Given the description of an element on the screen output the (x, y) to click on. 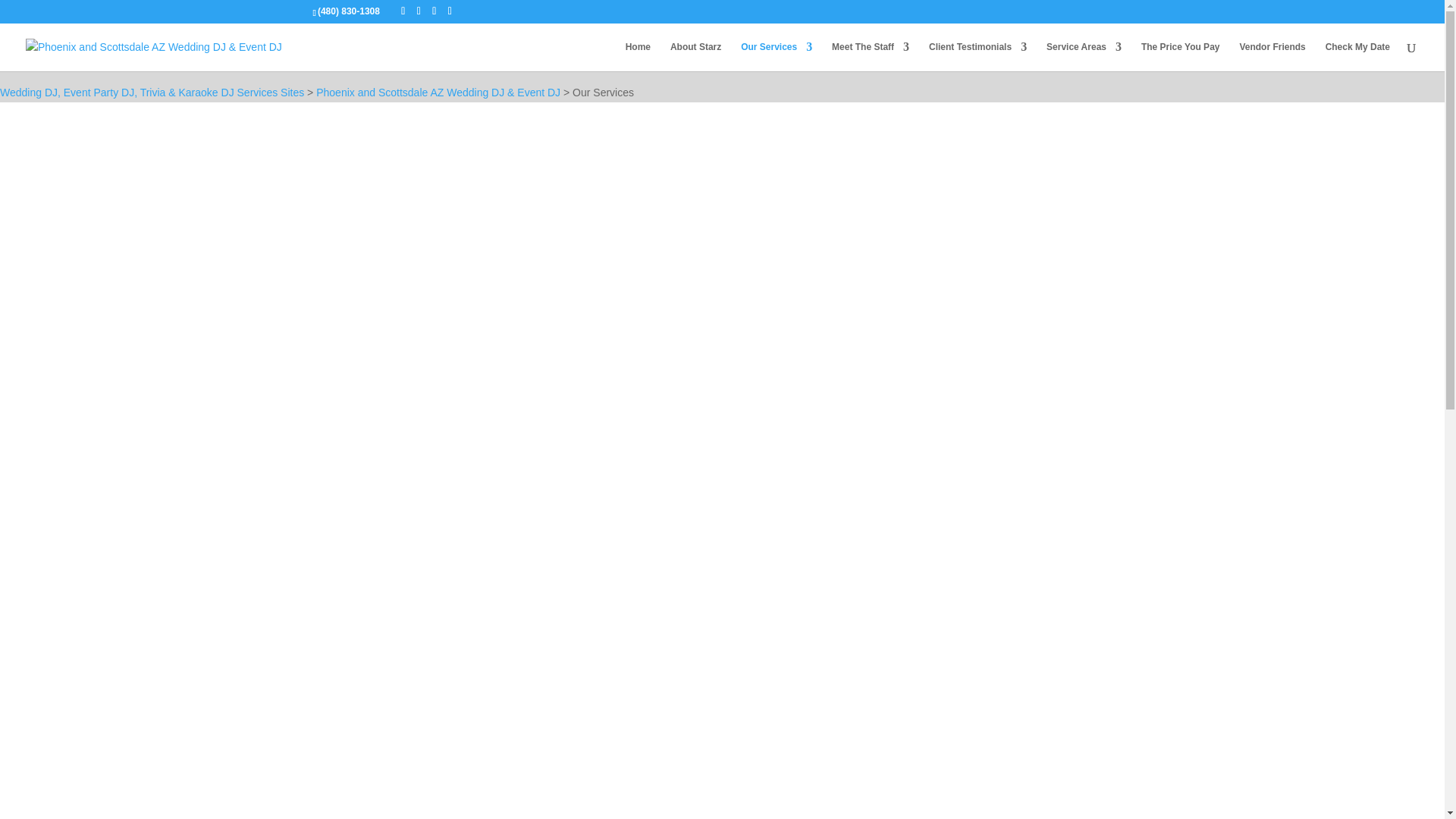
Our Services (776, 56)
About Starz (694, 56)
Client Testimonials (977, 56)
Service Areas (1083, 56)
Meet The Staff (869, 56)
